Given the description of an element on the screen output the (x, y) to click on. 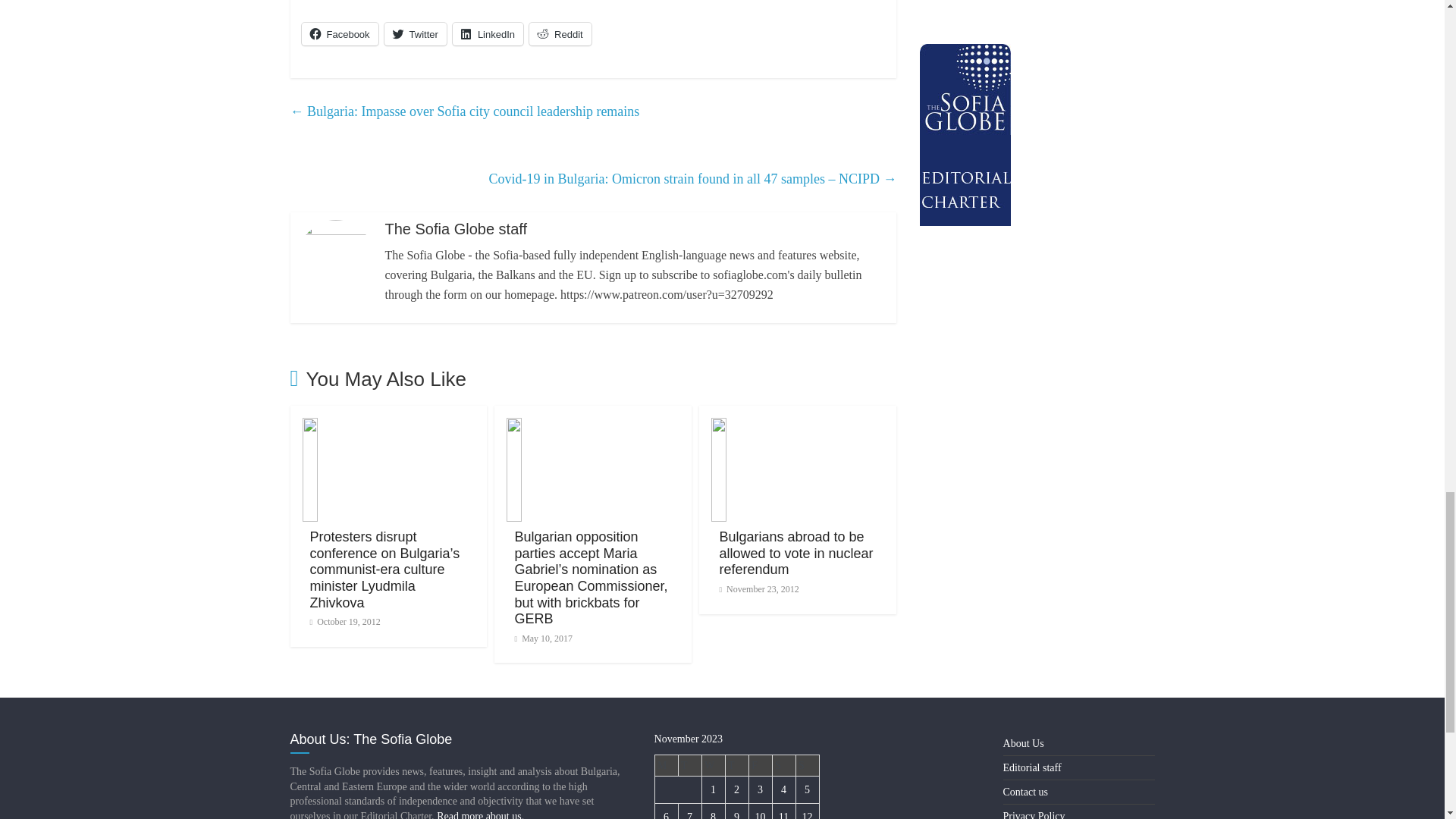
Click to share on Facebook (339, 33)
November 23, 2012 (758, 588)
Reddit (560, 33)
May 10, 2017 (542, 638)
LinkedIn (487, 33)
Click to share on LinkedIn (487, 33)
Click to share on Twitter (415, 33)
October 19, 2012 (344, 621)
1:07 PM (542, 638)
Facebook (339, 33)
Click to share on Reddit (560, 33)
5:35 PM (344, 621)
Twitter (415, 33)
